Given the description of an element on the screen output the (x, y) to click on. 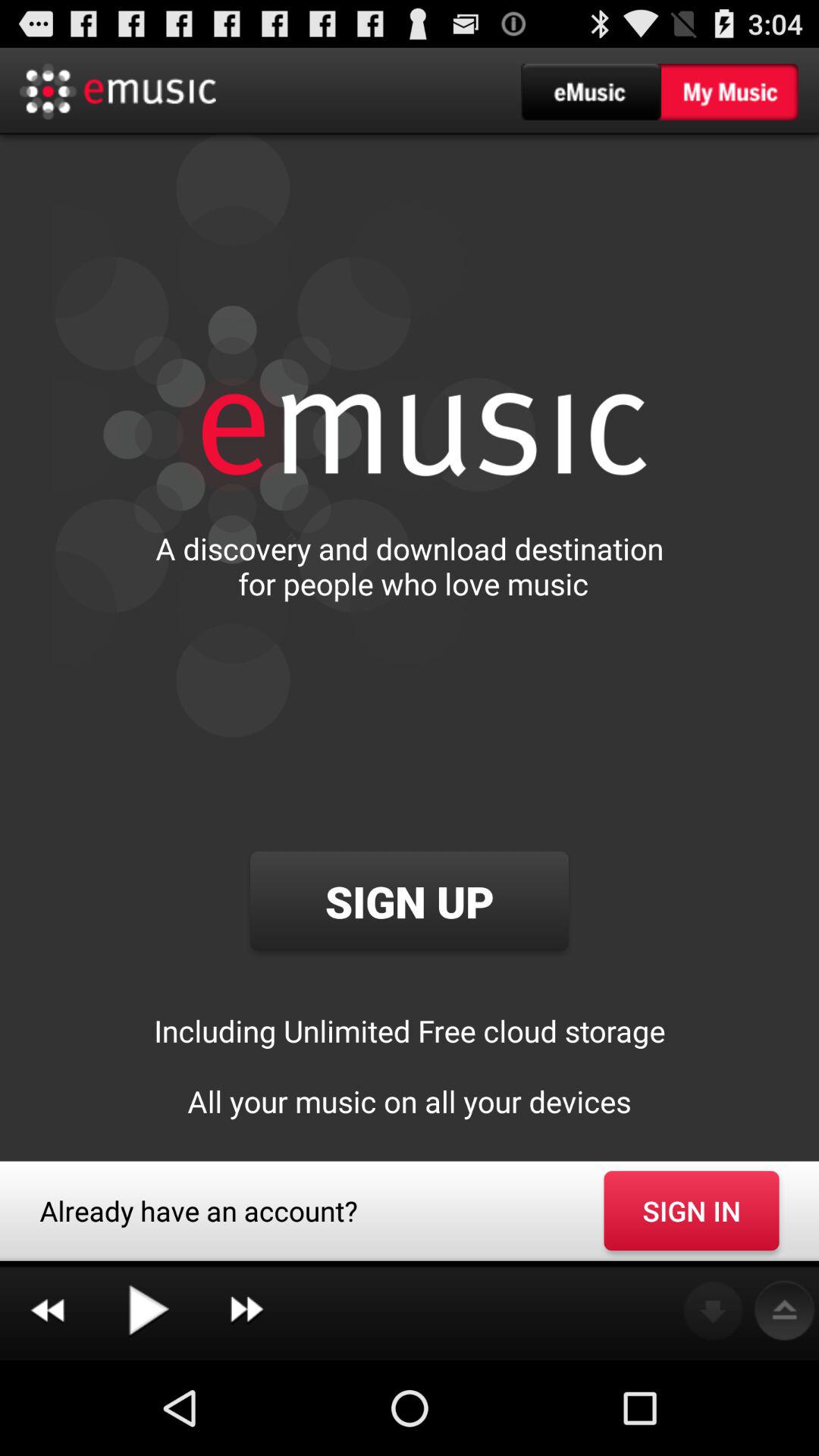
tap the sign up button (409, 900)
